Given the description of an element on the screen output the (x, y) to click on. 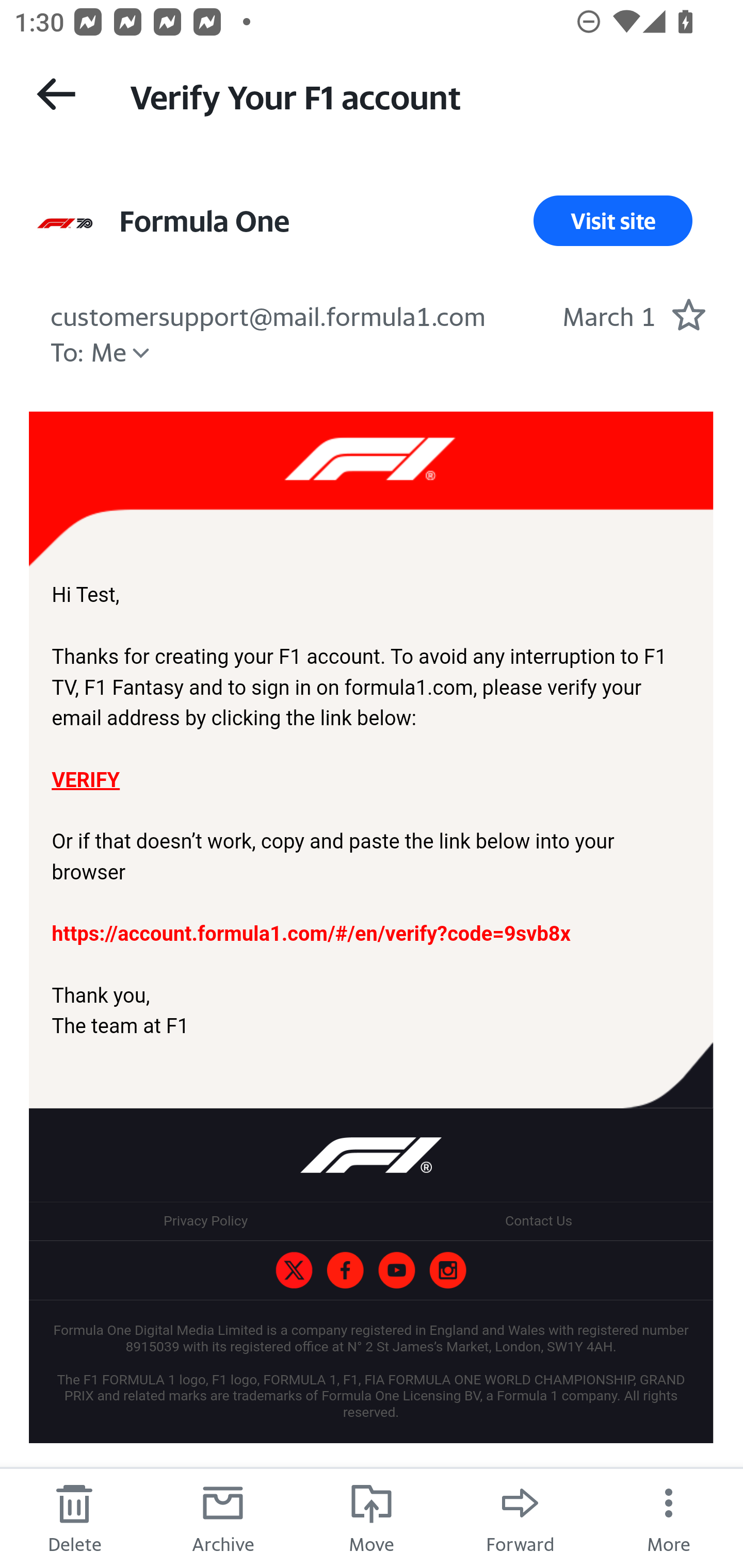
Back (55, 93)
Verify Your F1 account (418, 94)
View all messages from sender (64, 225)
Visit site Visit Site Link (612, 221)
Formula One Sender Formula One (203, 220)
Mark as starred. (688, 314)
F1 TV (370, 489)
VERIFY (85, 778)
Privacy Policy (205, 1221)
Contact Us (537, 1221)
F1 (293, 1270)
Formula1 (345, 1270)
Formula1 (396, 1270)
f1 (447, 1270)
Delete (74, 1517)
Archive (222, 1517)
Move (371, 1517)
Forward (519, 1517)
More (668, 1517)
